Given the description of an element on the screen output the (x, y) to click on. 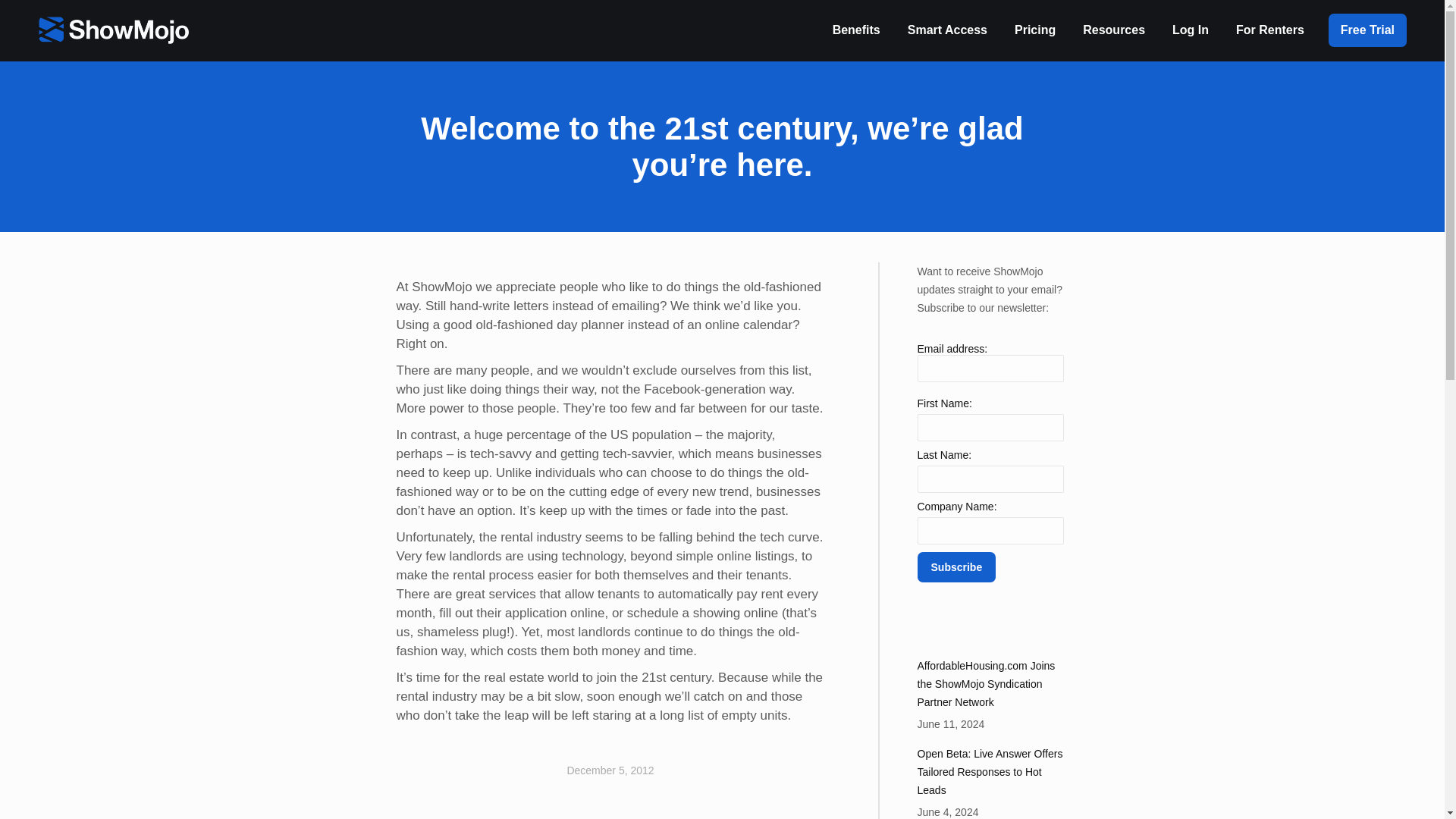
Pricing (1034, 29)
Free Trial (1366, 29)
8:44 am (609, 770)
For Renters (1270, 29)
Subscribe (956, 567)
Log In (1190, 29)
Resources (1114, 29)
Smart Access (947, 29)
Benefits (856, 29)
